Given the description of an element on the screen output the (x, y) to click on. 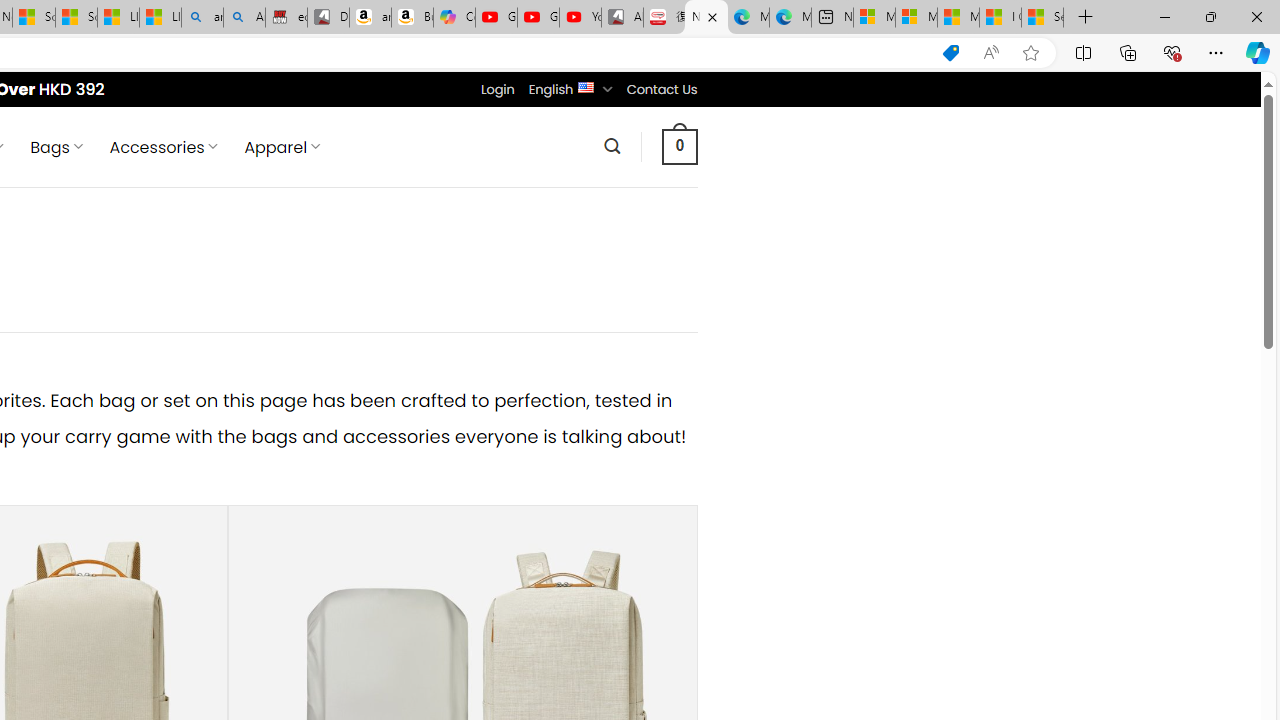
  0   (679, 146)
amazon.in/dp/B0CX59H5W7/?tag=gsmcom05-21 (369, 17)
All Cubot phones (621, 17)
This site has coupons! Shopping in Microsoft Edge (950, 53)
Copilot (453, 17)
 0  (679, 146)
